Given the description of an element on the screen output the (x, y) to click on. 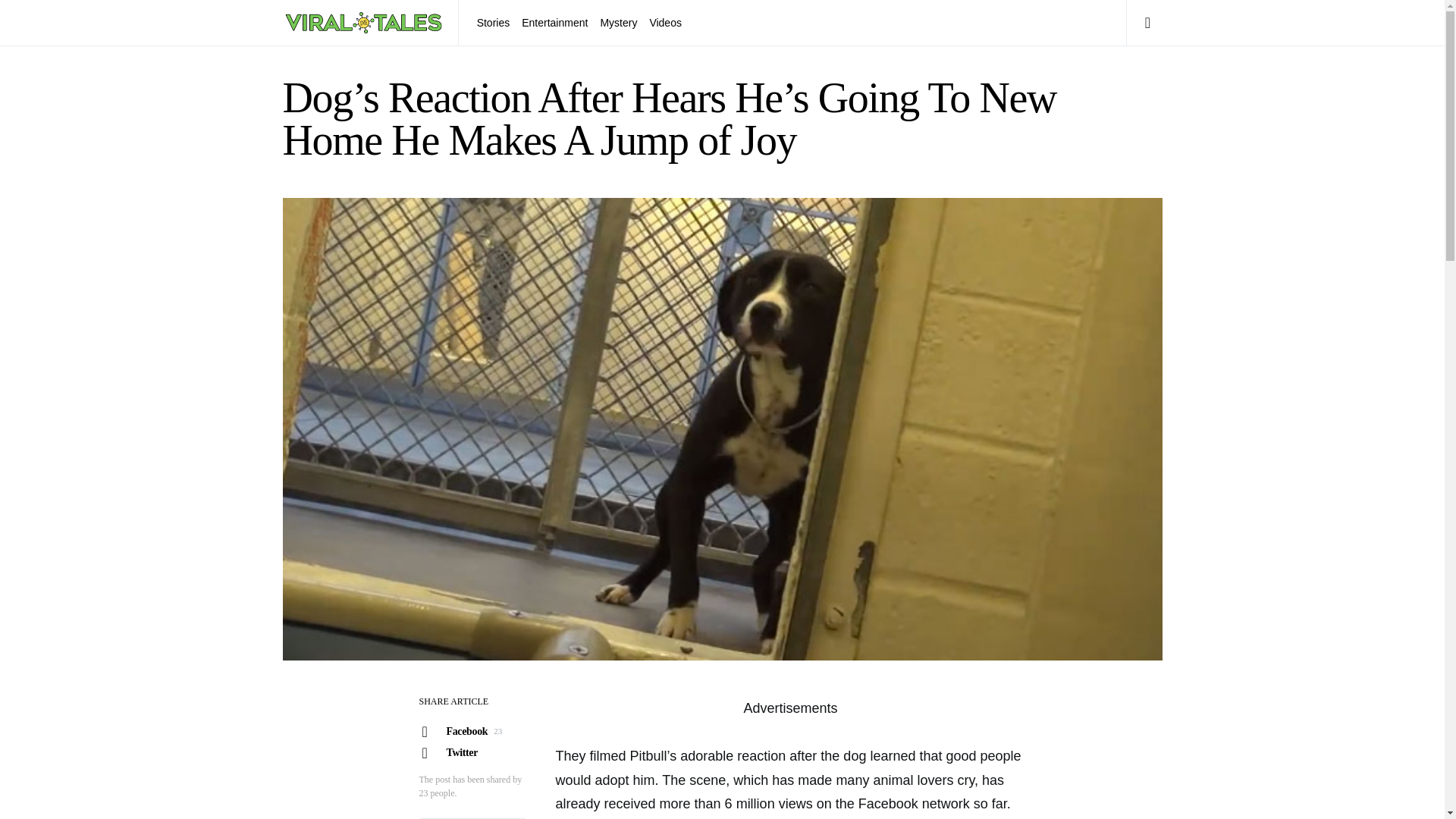
Entertainment (554, 22)
Twitter (470, 731)
Mystery (470, 752)
